Given the description of an element on the screen output the (x, y) to click on. 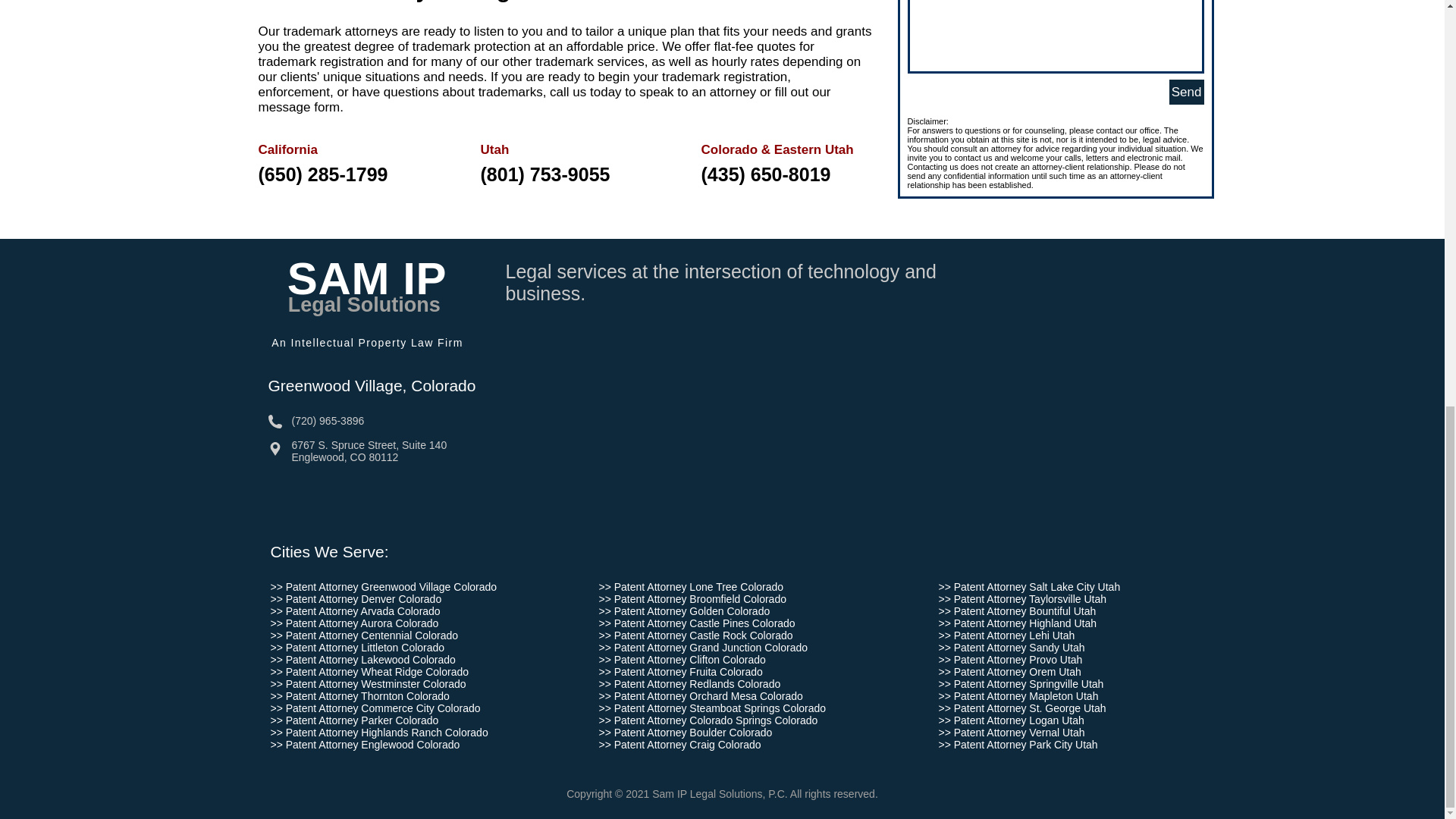
An Intellectual Property Law Firm (366, 342)
SAM IP (366, 278)
Legal Solutions  (367, 304)
Send (1186, 91)
